Given the description of an element on the screen output the (x, y) to click on. 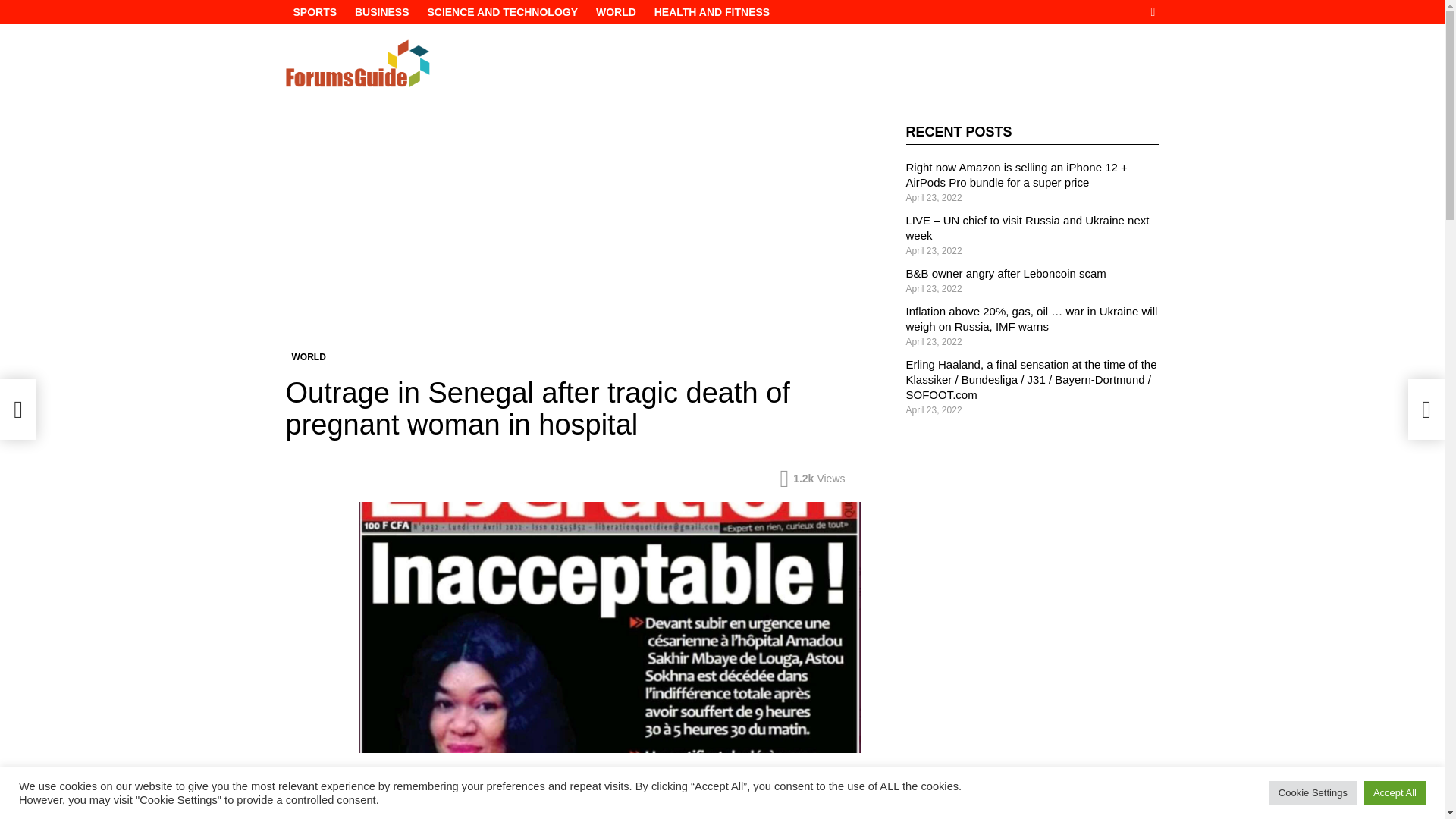
BUSINESS (381, 11)
SCIENCE AND TECHNOLOGY (502, 11)
SPORTS (314, 11)
Advertisement (572, 237)
WORLD (308, 356)
HEALTH AND FITNESS (711, 11)
WORLD (615, 11)
